Given the description of an element on the screen output the (x, y) to click on. 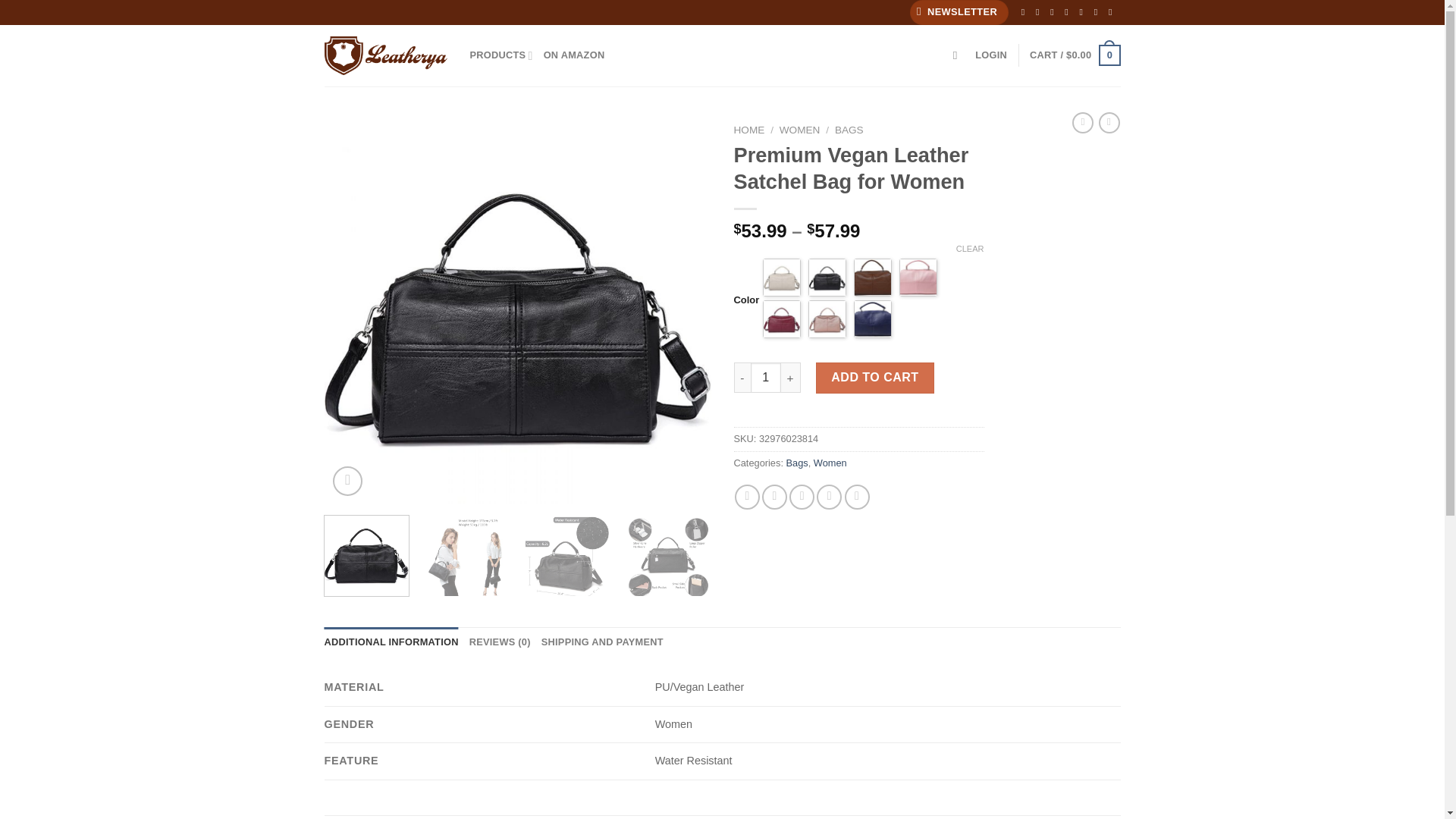
ON AMAZON (574, 55)
1 (765, 377)
NEWSLETTER (959, 12)
Sign up for Newsletter (959, 12)
PRODUCTS (501, 55)
Leatherya - Handmade Leather (385, 55)
LOGIN (991, 55)
